Given the description of an element on the screen output the (x, y) to click on. 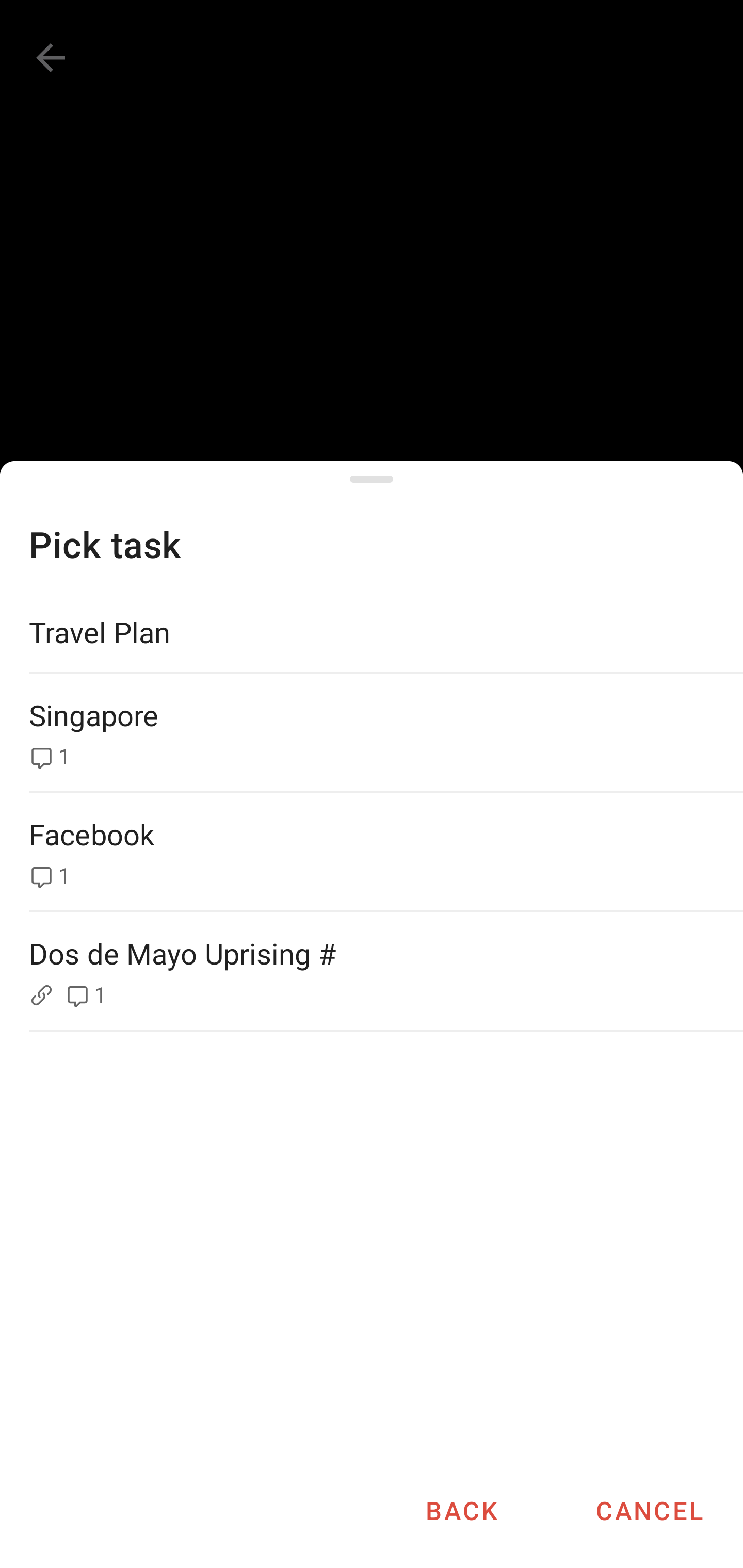
Travel Plan (371, 631)
Singapore 1 Comments (371, 732)
Facebook 1 Comments (371, 852)
Dos de Mayo Uprising # Hyperlink 1 Comments (371, 971)
BACK (460, 1510)
CANCEL (648, 1510)
